Given the description of an element on the screen output the (x, y) to click on. 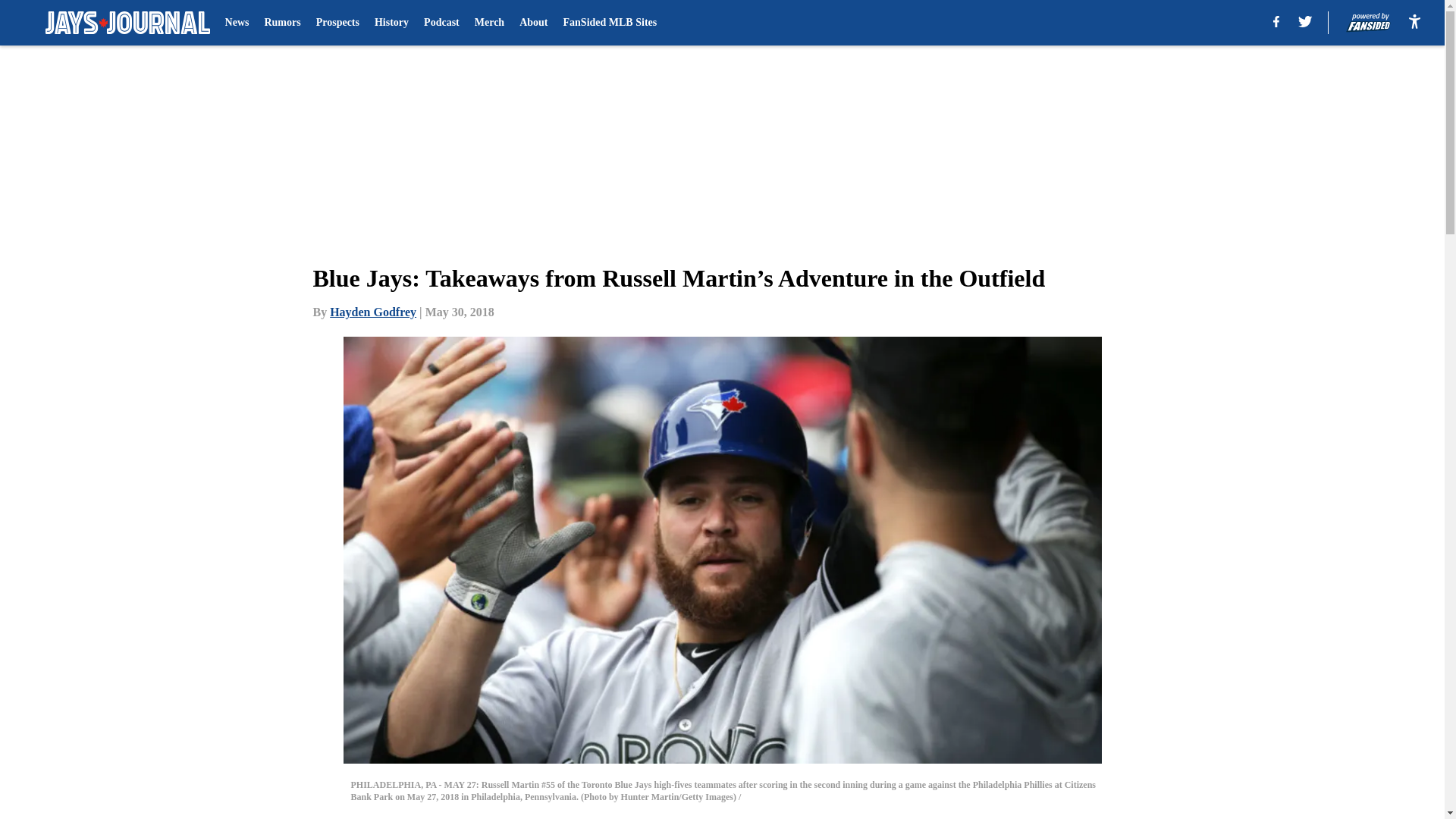
Prospects (337, 22)
History (391, 22)
Hayden Godfrey (373, 311)
FanSided MLB Sites (610, 22)
Merch (488, 22)
News (236, 22)
About (533, 22)
Podcast (441, 22)
Rumors (281, 22)
